Given the description of an element on the screen output the (x, y) to click on. 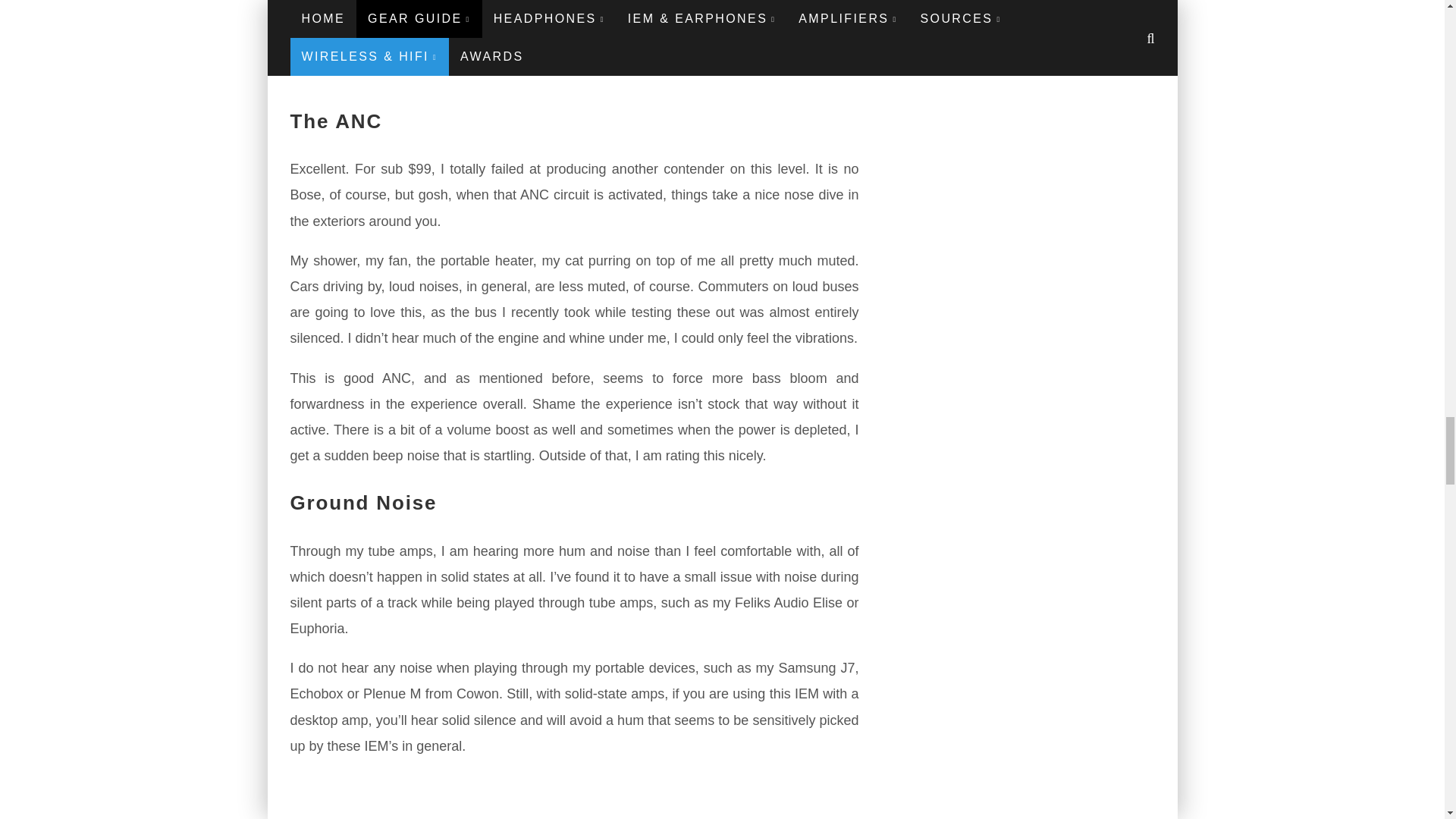
ANC (574, 796)
ANC (574, 43)
